Given the description of an element on the screen output the (x, y) to click on. 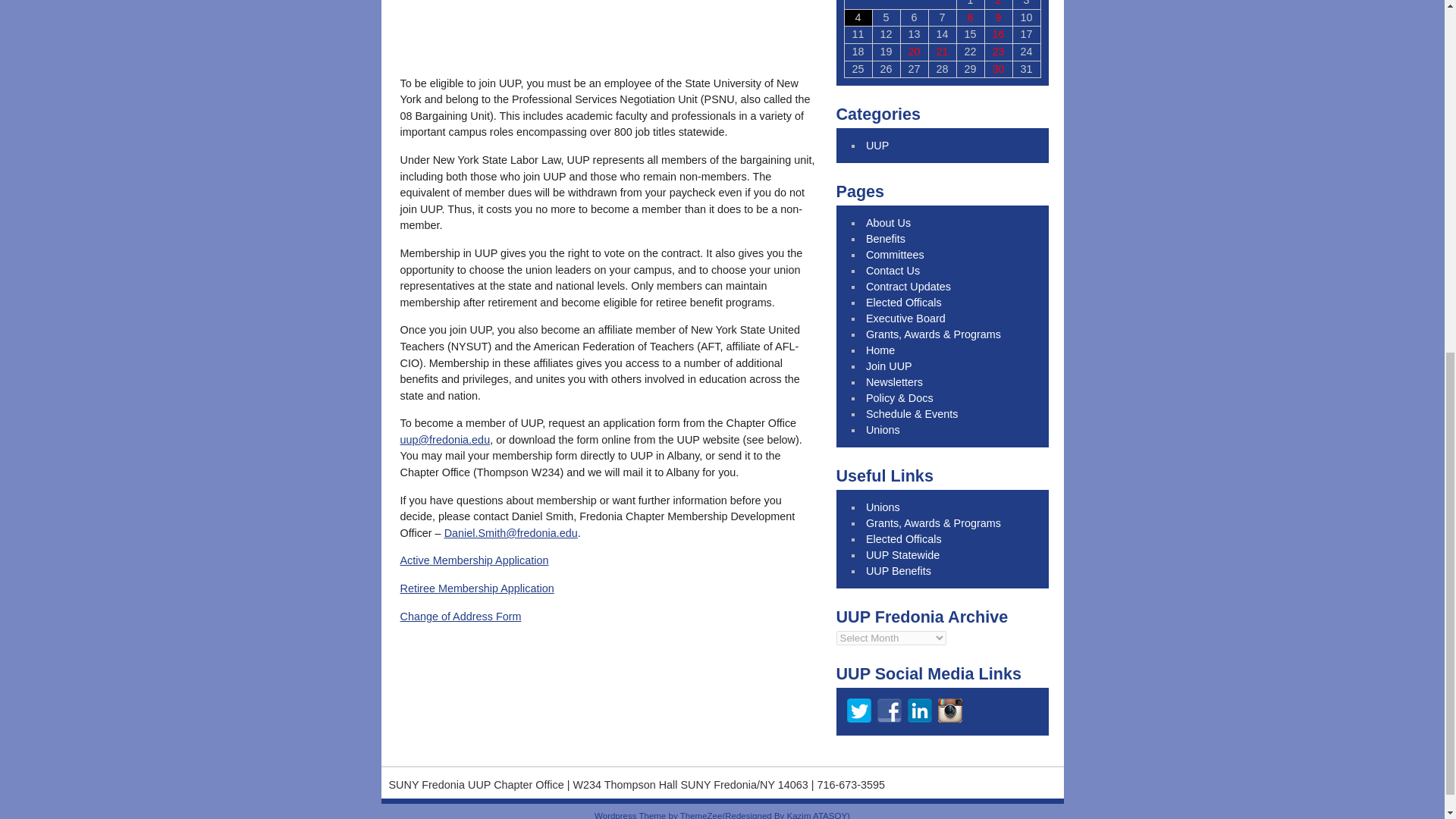
Elected Officals (904, 302)
Committees (895, 254)
Change of Address Form (460, 616)
Contact Us (893, 270)
UUP (877, 145)
Active Membership Application (474, 560)
Benefits (885, 238)
About Us (888, 223)
Contract Updates (908, 286)
Retiree Membership Application (477, 588)
